Given the description of an element on the screen output the (x, y) to click on. 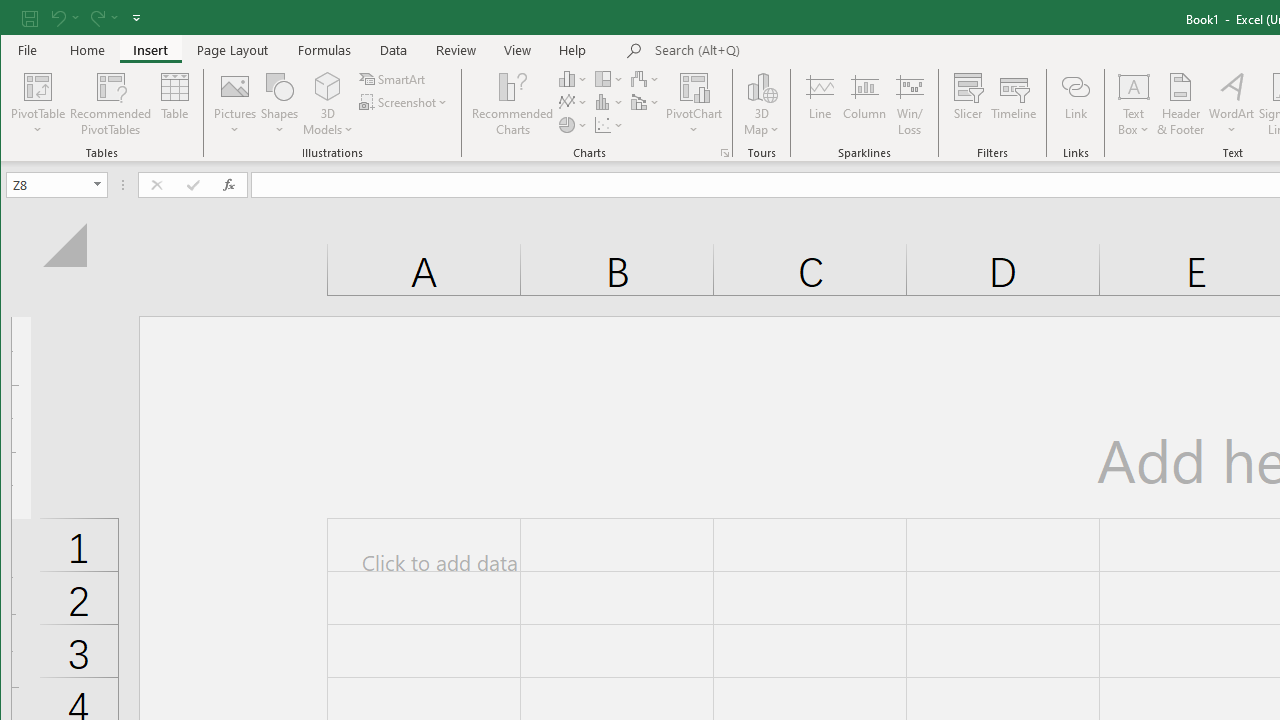
Shapes (279, 104)
Insert Pie or Doughnut Chart (573, 124)
3D Models (327, 86)
Insert Hierarchy Chart (609, 78)
Insert Scatter (X, Y) or Bubble Chart (609, 124)
Insert Statistic Chart (609, 101)
Text Box (1133, 104)
PivotChart (694, 86)
Link (1075, 104)
